Given the description of an element on the screen output the (x, y) to click on. 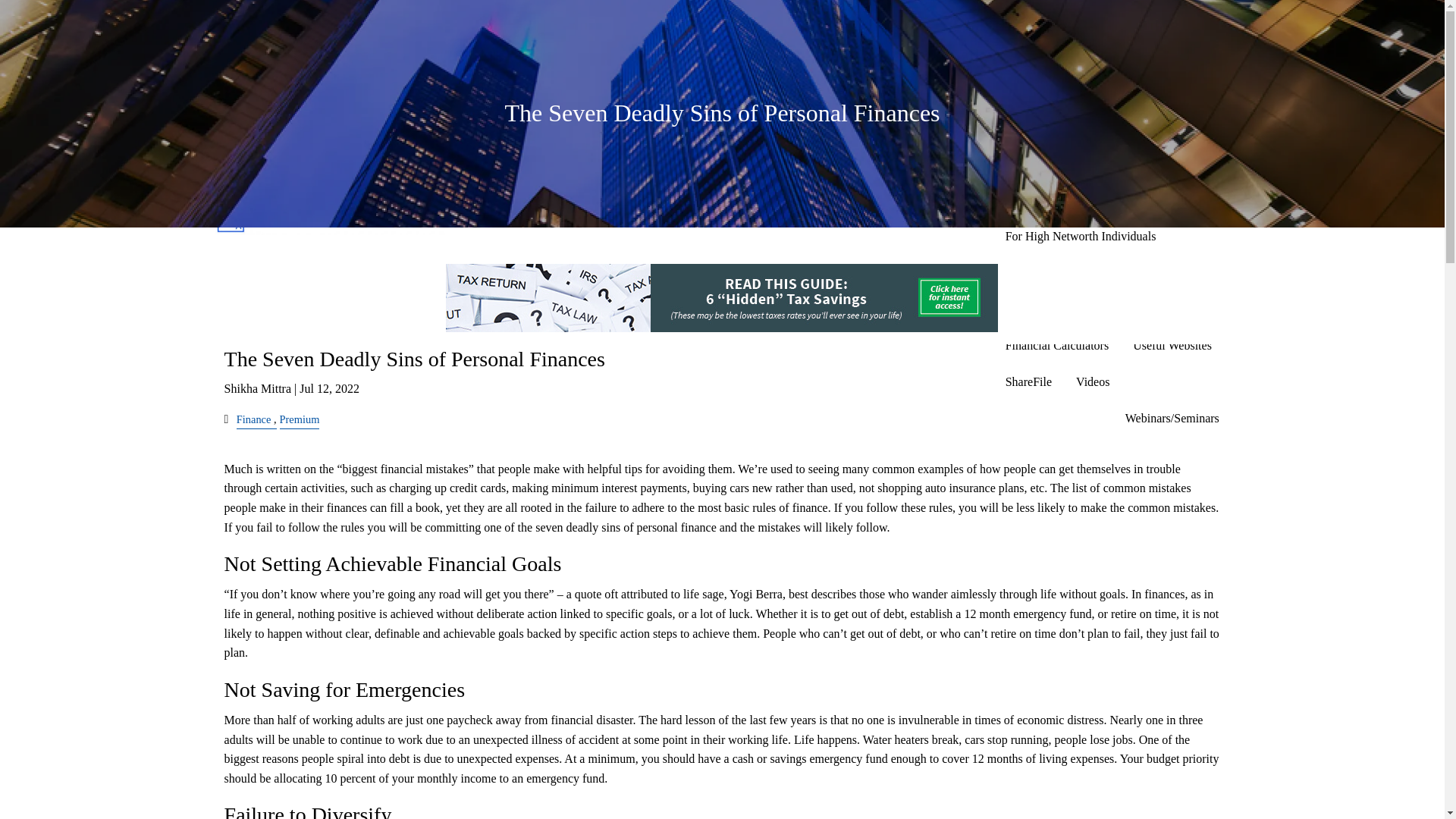
Our Process (1034, 90)
About (1111, 18)
Useful Websites (1172, 345)
Quoted In Media (1046, 126)
Resources (1111, 309)
ShareFile (1028, 381)
Services (1111, 163)
For Businesses And Non-Profits (1083, 199)
Why Us (1132, 126)
Financial Calculators (1056, 345)
Videos (1092, 381)
Our Principal (1037, 54)
Premium (299, 419)
Finance (252, 419)
Our Code Of Ethics (1135, 90)
